Given the description of an element on the screen output the (x, y) to click on. 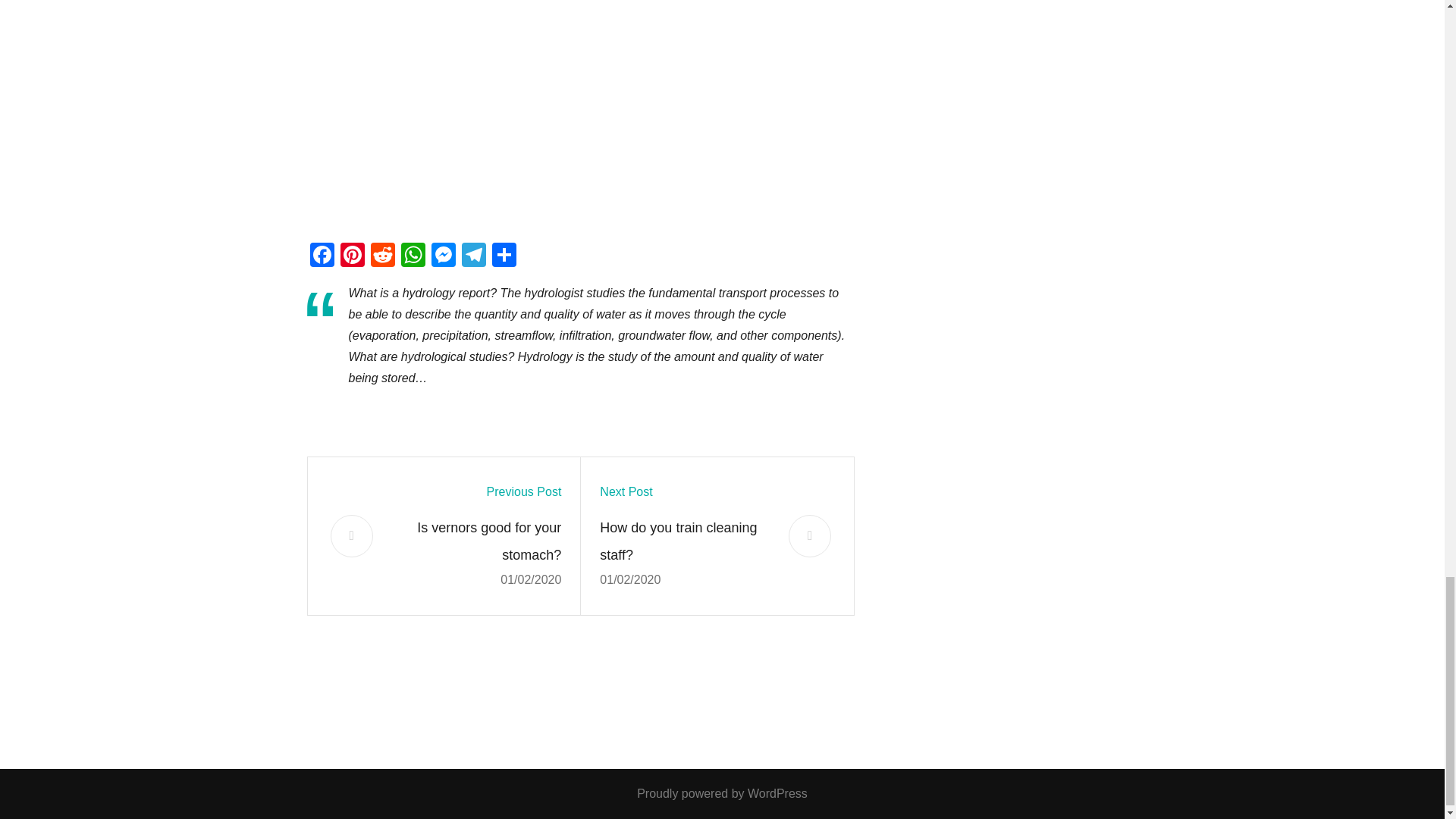
WhatsApp (412, 256)
Pinterest (351, 256)
Messenger (443, 256)
Reddit (381, 256)
Facebook (320, 256)
Share (502, 256)
Telegram (472, 256)
WhatsApp (412, 256)
Facebook (320, 256)
Pinterest (351, 256)
Is vernors good for your stomach? (475, 541)
How do you train cleaning staff? (684, 541)
Reddit (381, 256)
Messenger (443, 256)
Telegram (472, 256)
